Given the description of an element on the screen output the (x, y) to click on. 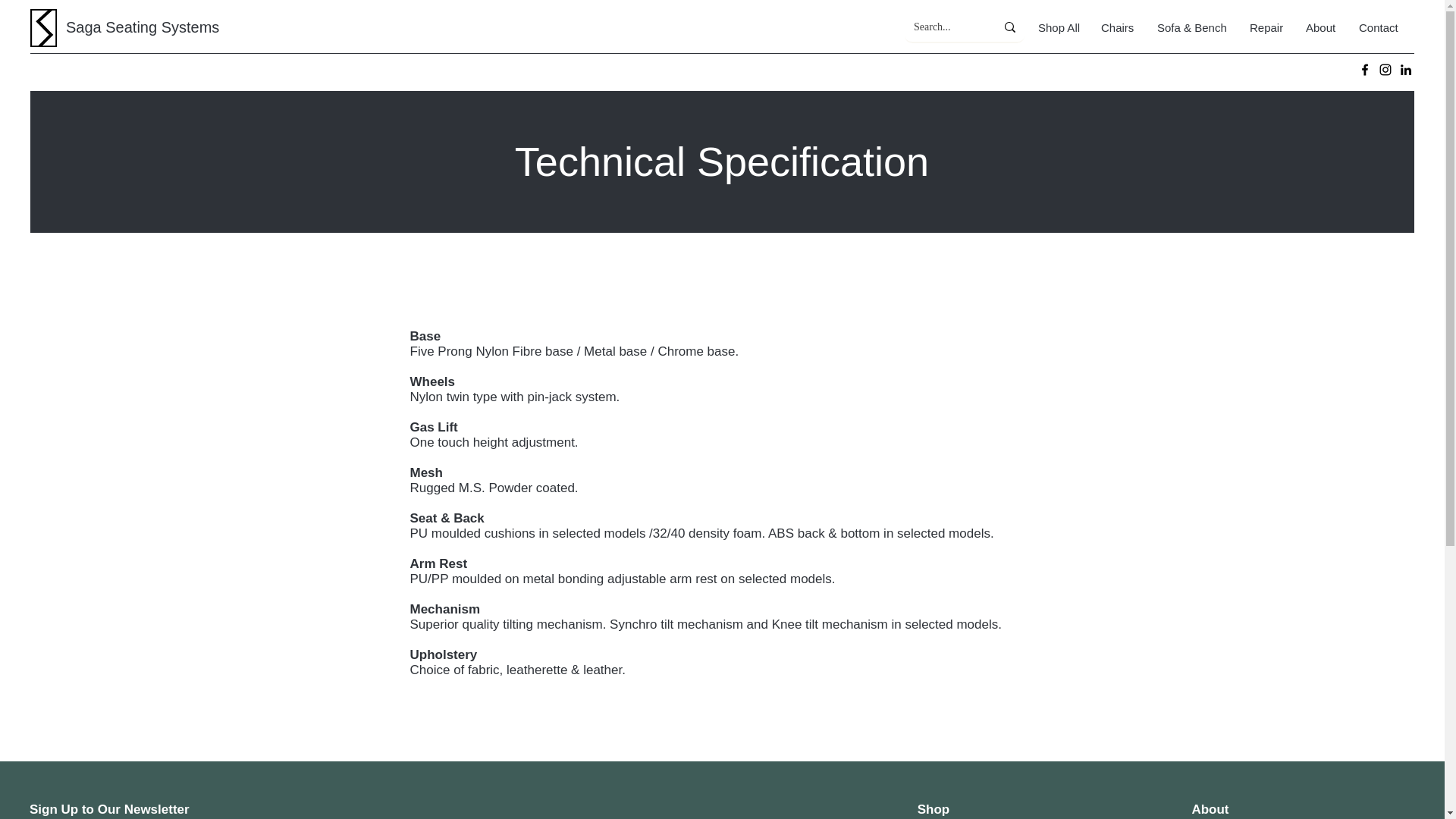
Shop All (1057, 27)
Repair (1266, 27)
Contact (1380, 27)
About (1321, 27)
Saga Seating Systems (142, 27)
